Given the description of an element on the screen output the (x, y) to click on. 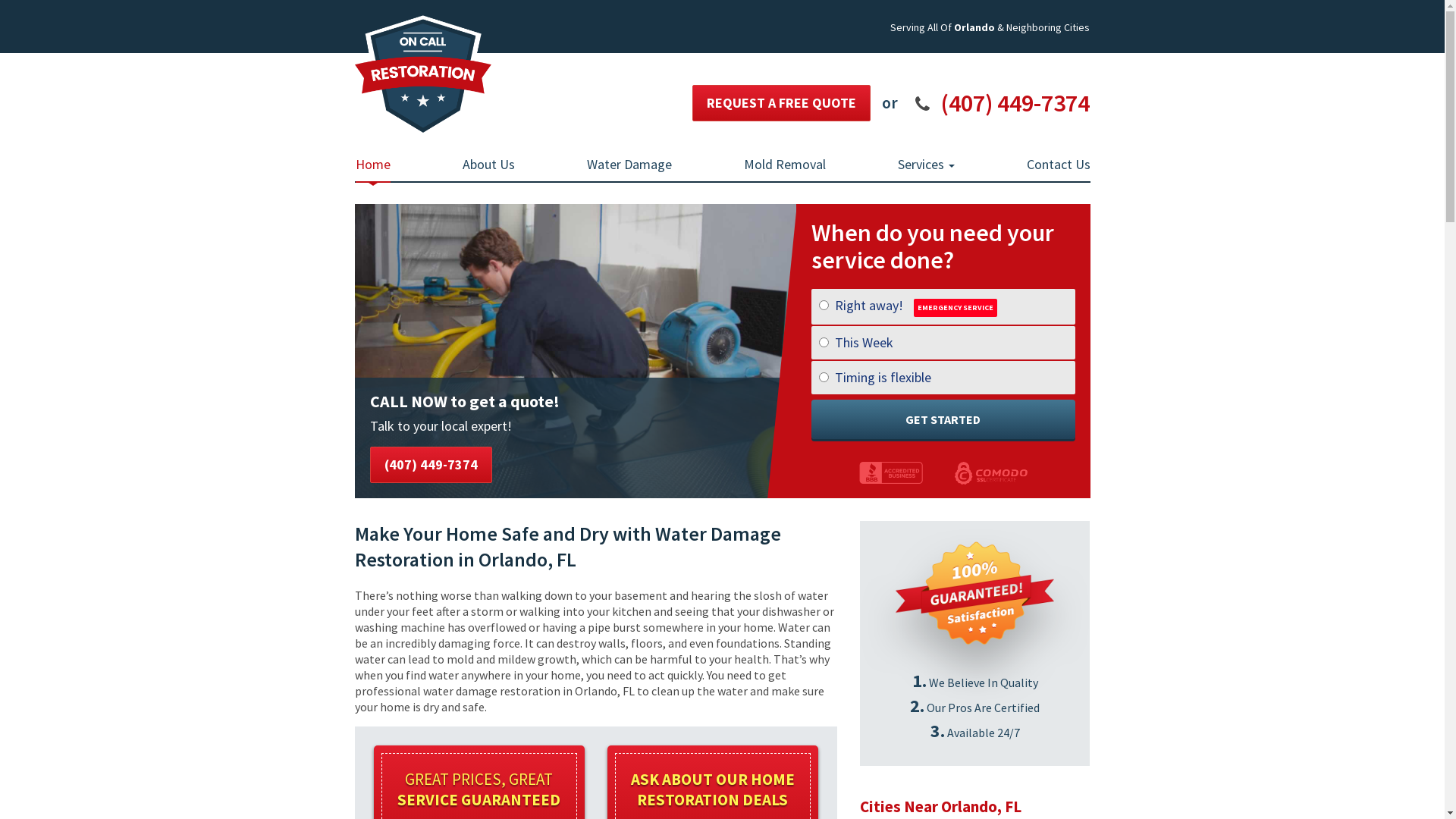
(407) 449-7374 Element type: text (1015, 102)
Contact Us Element type: text (1058, 164)
About Us Element type: text (488, 164)
GET STARTED Element type: text (943, 419)
Home Element type: text (371, 164)
On Call Restoration Element type: hover (422, 71)
Mold Removal Element type: text (784, 164)
Water Damage Element type: text (628, 164)
(407) 449-7374 Element type: text (431, 464)
REQUEST A FREE QUOTE Element type: text (781, 102)
Services Element type: text (925, 164)
